Given the description of an element on the screen output the (x, y) to click on. 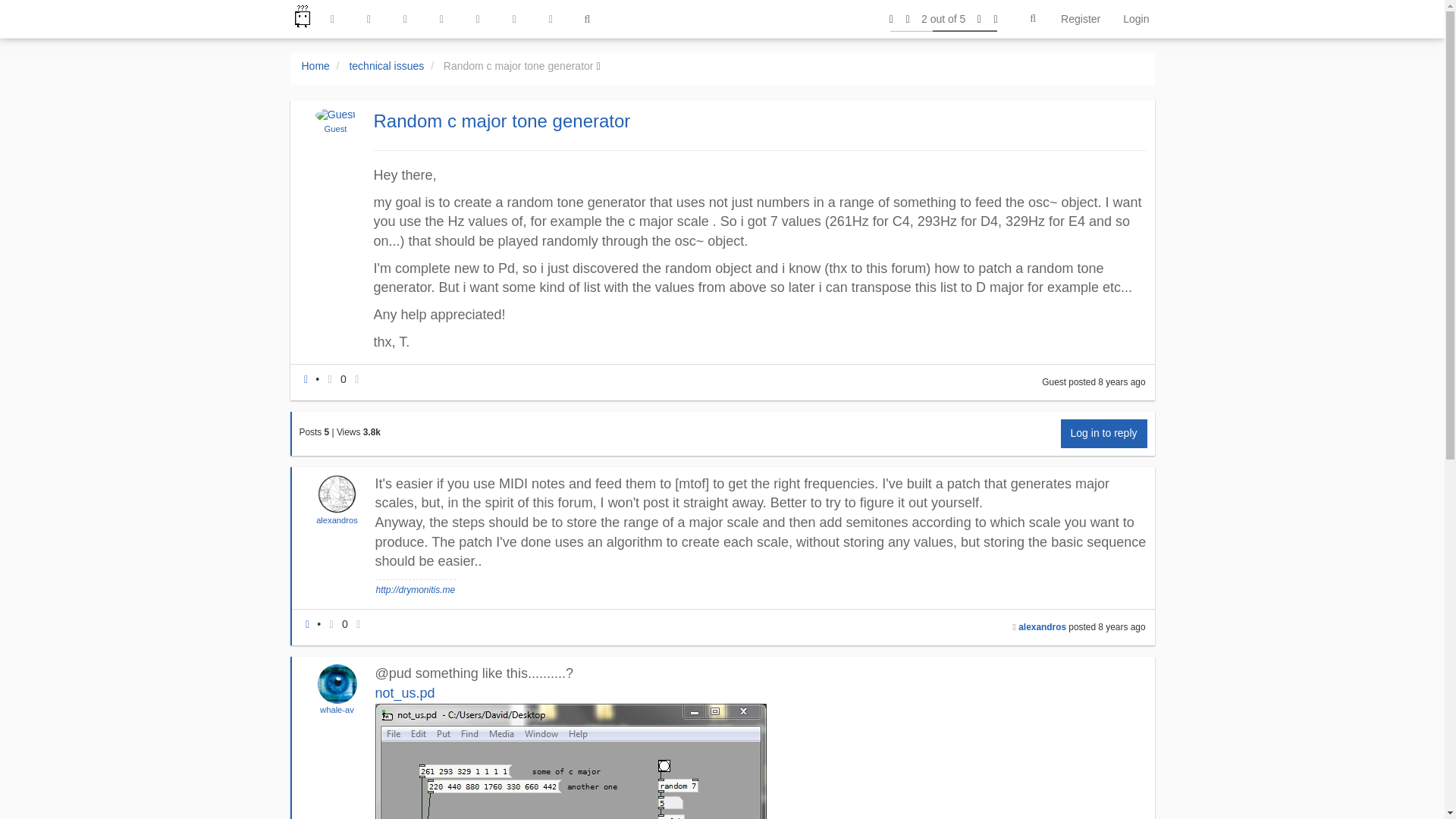
Guest (335, 128)
technical issues (386, 65)
Login (1136, 18)
Home (315, 65)
alexandros (337, 520)
alexandros (336, 519)
Search (1032, 18)
3754 (371, 431)
Register (1080, 18)
Log in to reply (1104, 433)
